Given the description of an element on the screen output the (x, y) to click on. 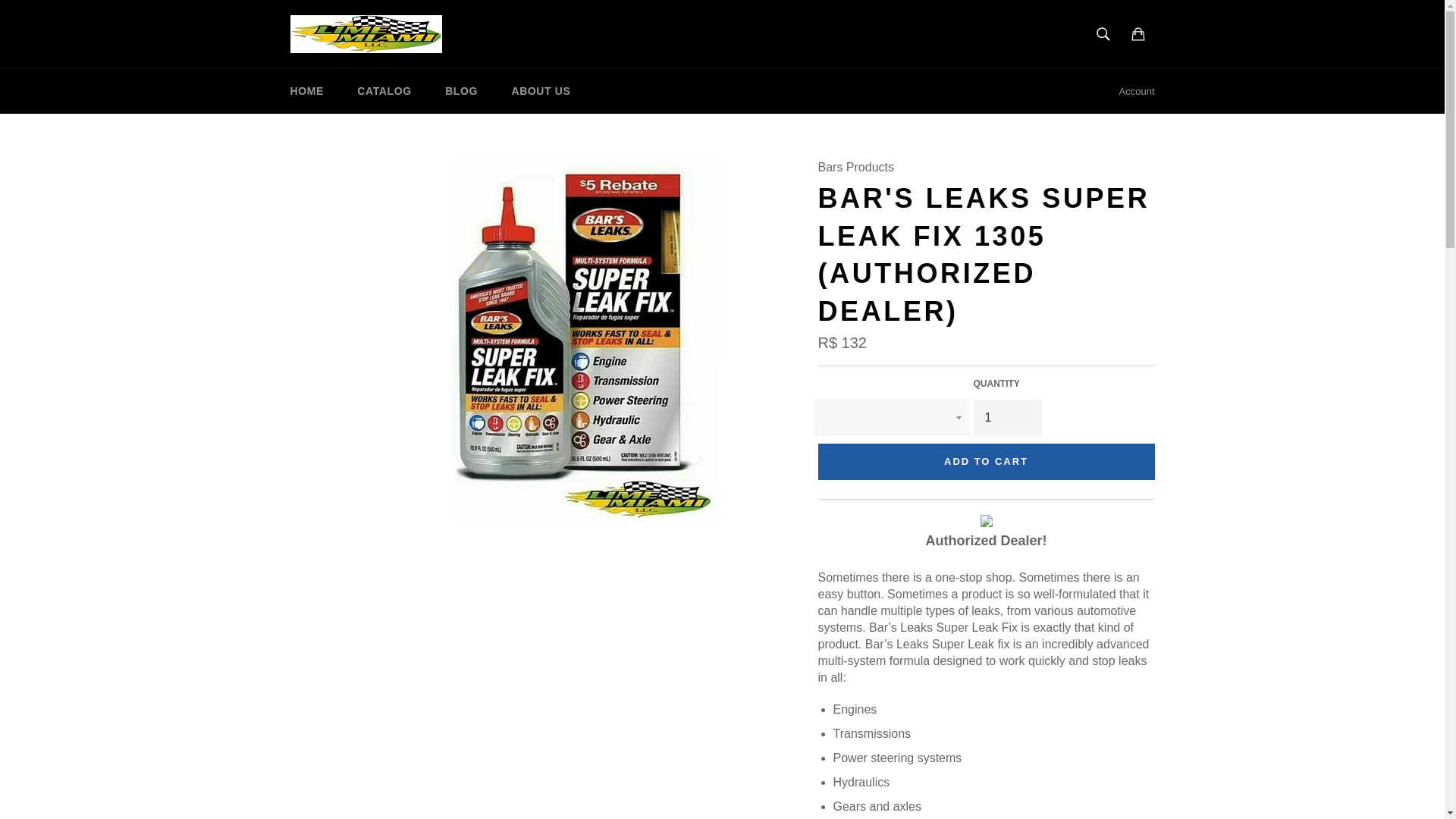
CATALOG (384, 90)
ABOUT US (540, 90)
Cart (1138, 33)
BLOG (461, 90)
1 (1008, 417)
ADD TO CART (985, 461)
HOME (306, 90)
Account (1136, 91)
Search (1103, 33)
